Given the description of an element on the screen output the (x, y) to click on. 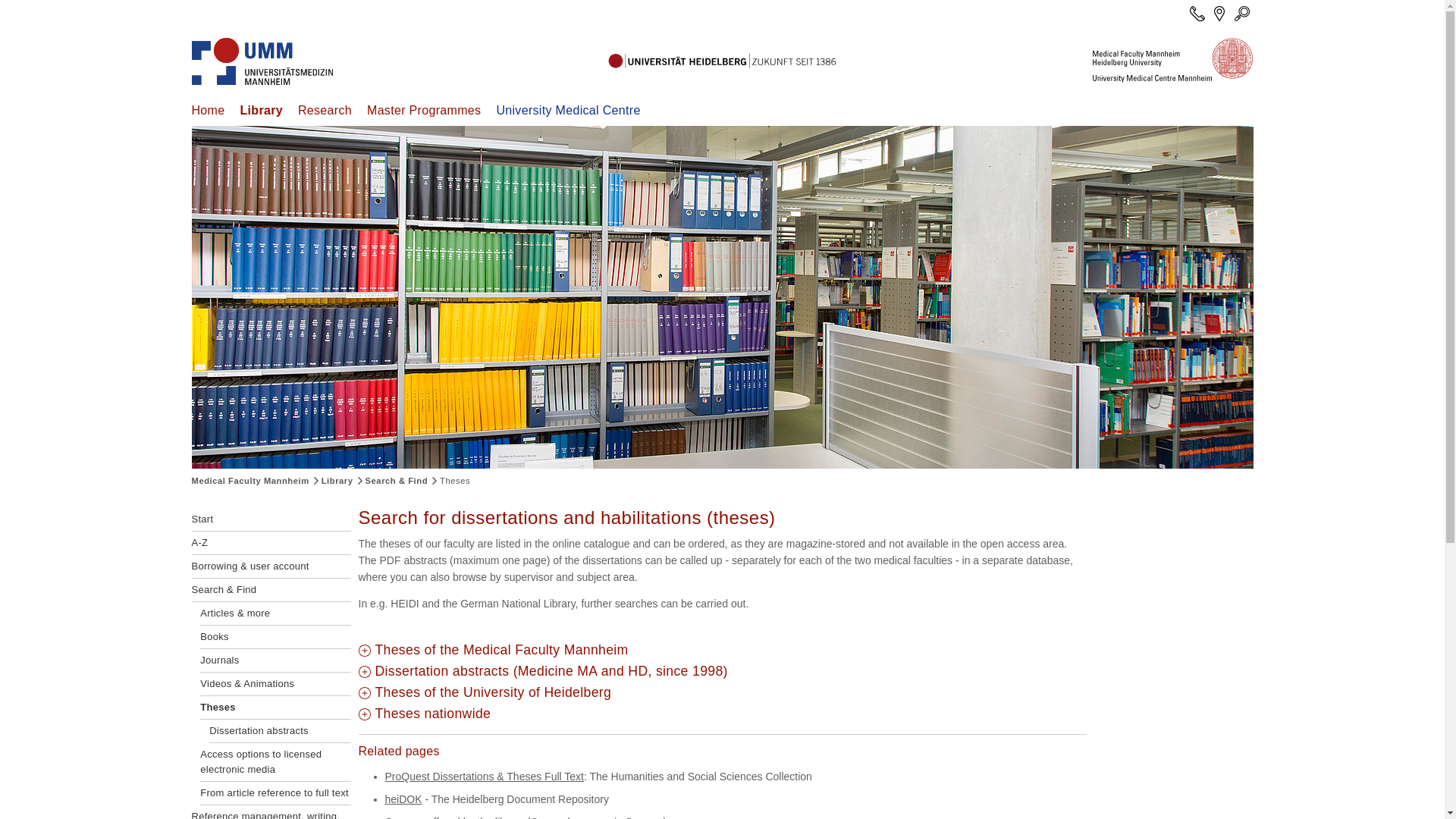
Library (261, 110)
Home (207, 110)
